Given the description of an element on the screen output the (x, y) to click on. 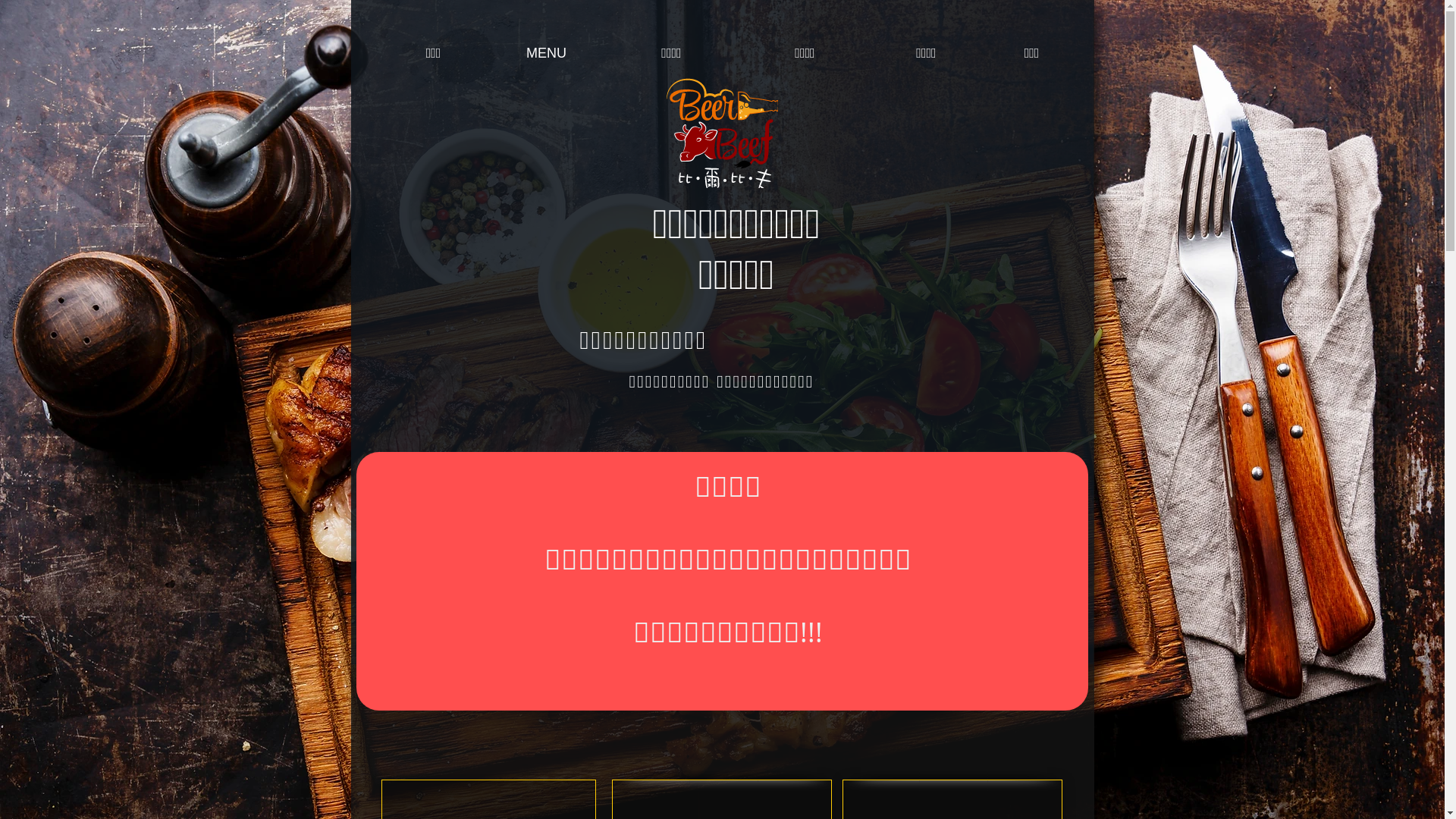
MENU Element type: text (546, 53)
